Given the description of an element on the screen output the (x, y) to click on. 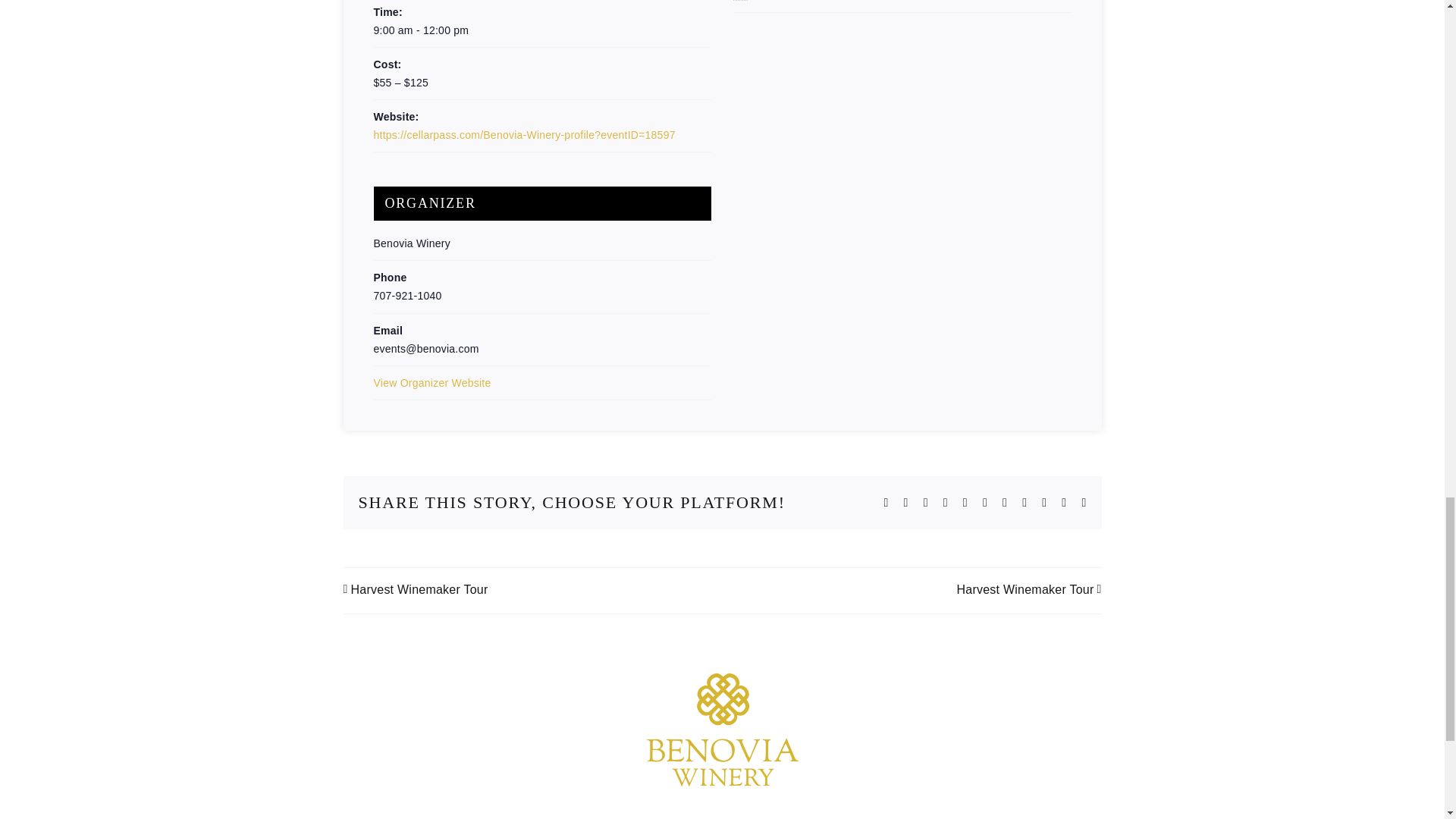
2019-09-13 (541, 30)
View Organizer Website (431, 382)
